Given the description of an element on the screen output the (x, y) to click on. 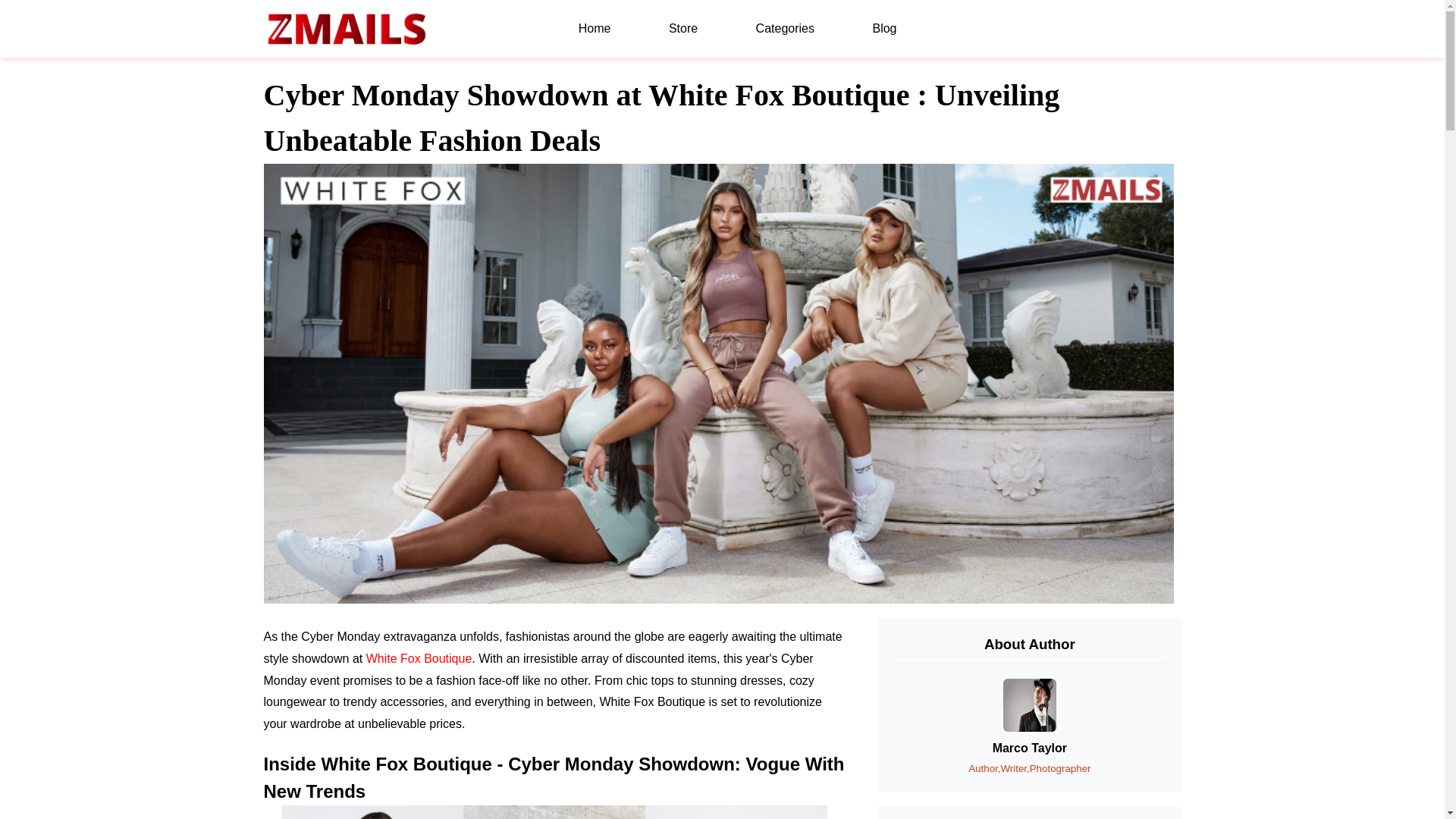
Home (594, 28)
Categories (785, 28)
Store (682, 28)
Blog (884, 28)
White Fox Boutique (418, 658)
